Given the description of an element on the screen output the (x, y) to click on. 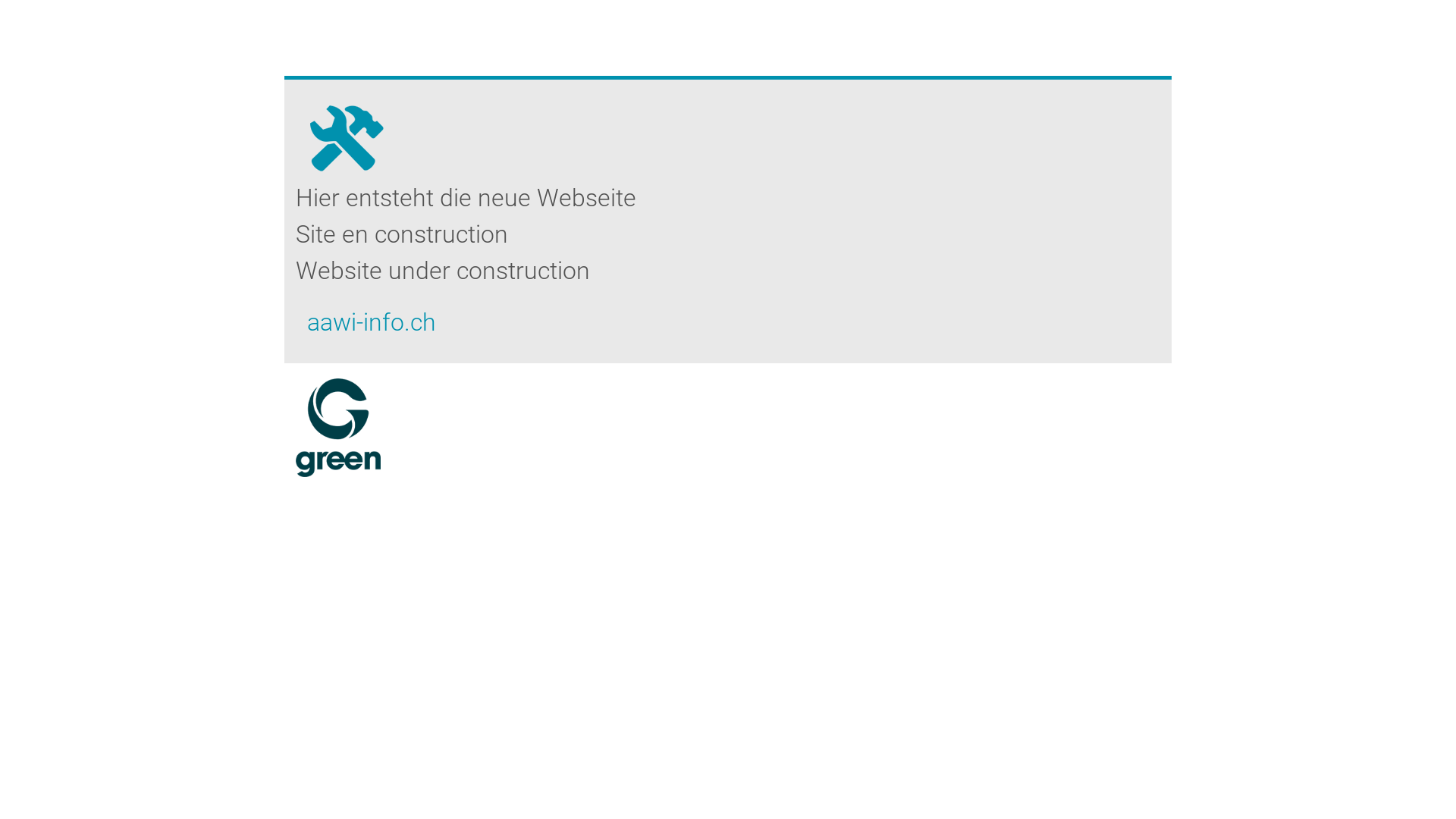
coming soon Element type: hover (345, 129)
powered by green.ch Element type: hover (337, 427)
